Given the description of an element on the screen output the (x, y) to click on. 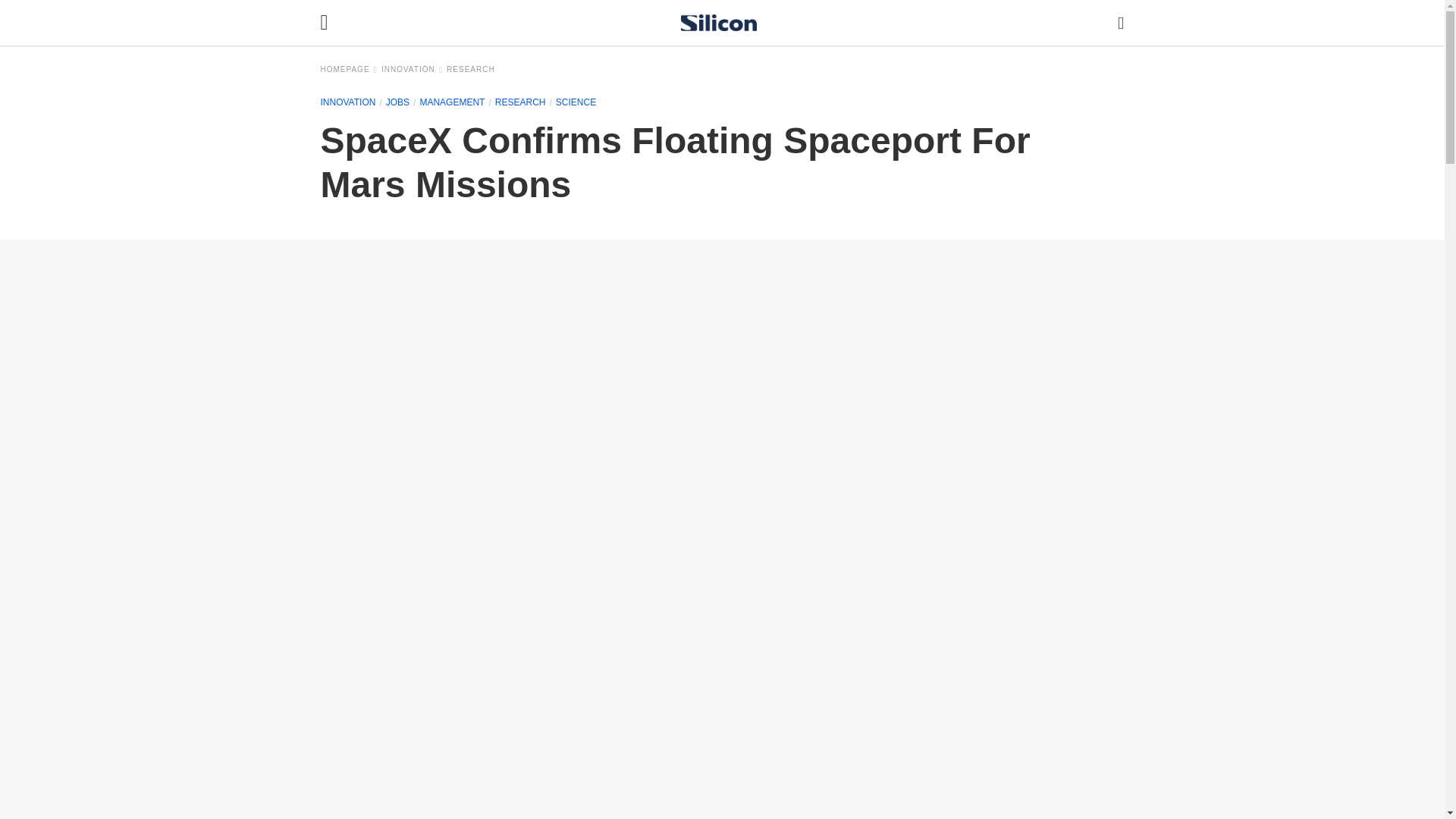
SCIENCE (575, 102)
Management (451, 102)
MANAGEMENT (451, 102)
RESEARCH (470, 69)
Innovation (411, 69)
HOMEPAGE (348, 69)
Jobs (397, 102)
Innovation (347, 102)
INNOVATION (411, 69)
Homepage (348, 69)
